Given the description of an element on the screen output the (x, y) to click on. 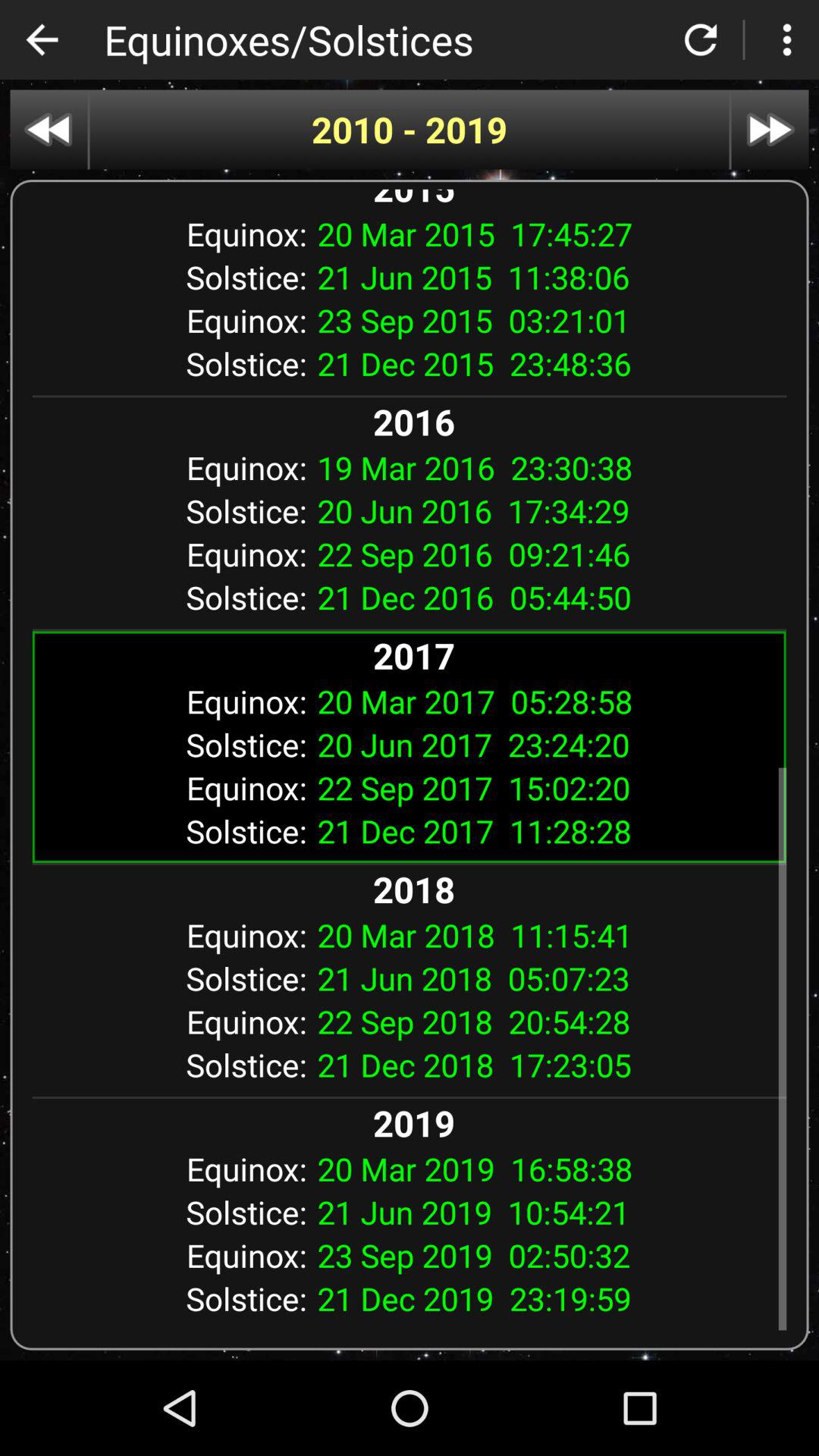
next (769, 129)
